Given the description of an element on the screen output the (x, y) to click on. 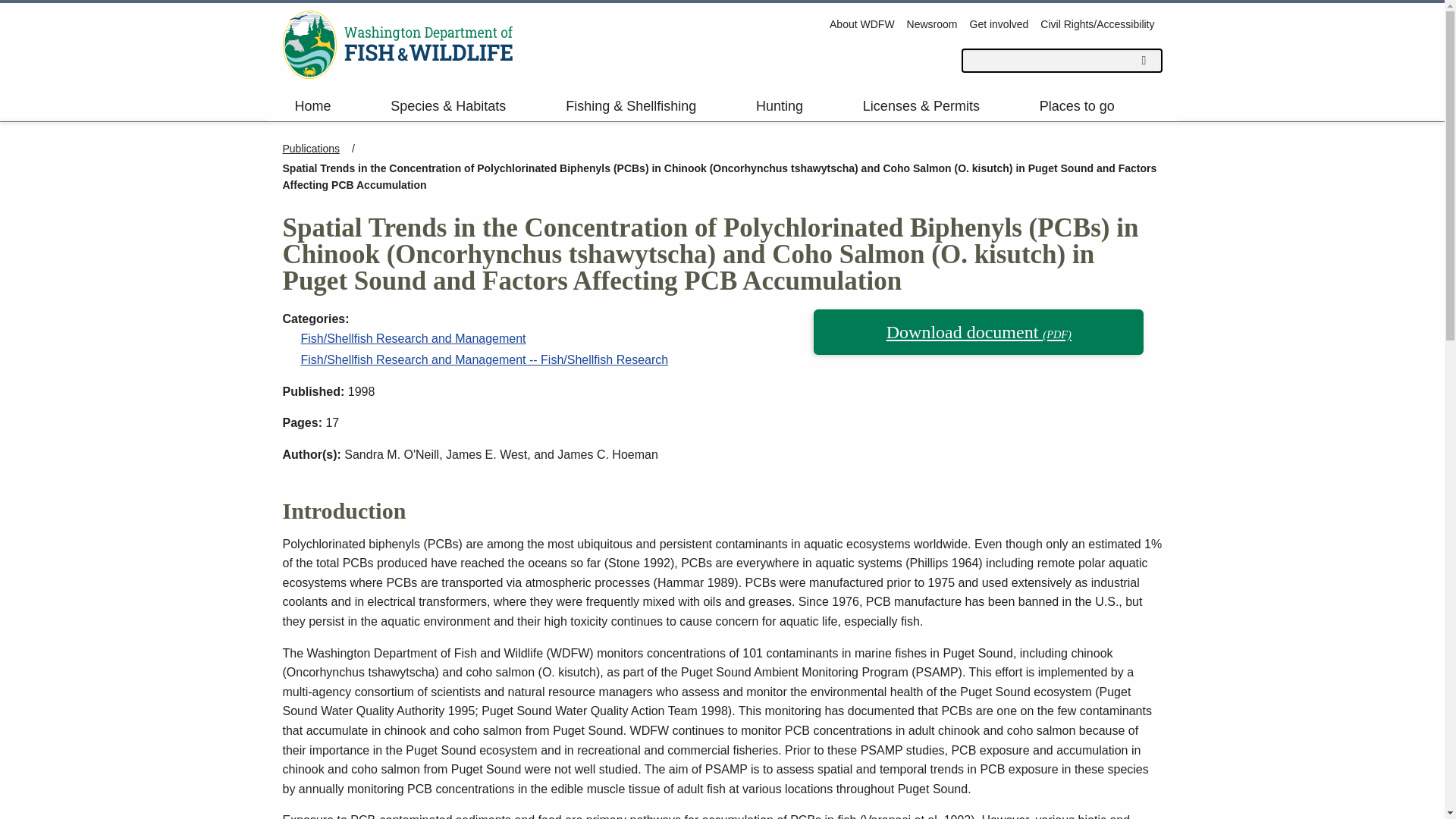
wdfw01031.pdf (977, 331)
Home (397, 44)
Home (330, 105)
Hunting (797, 105)
